Given the description of an element on the screen output the (x, y) to click on. 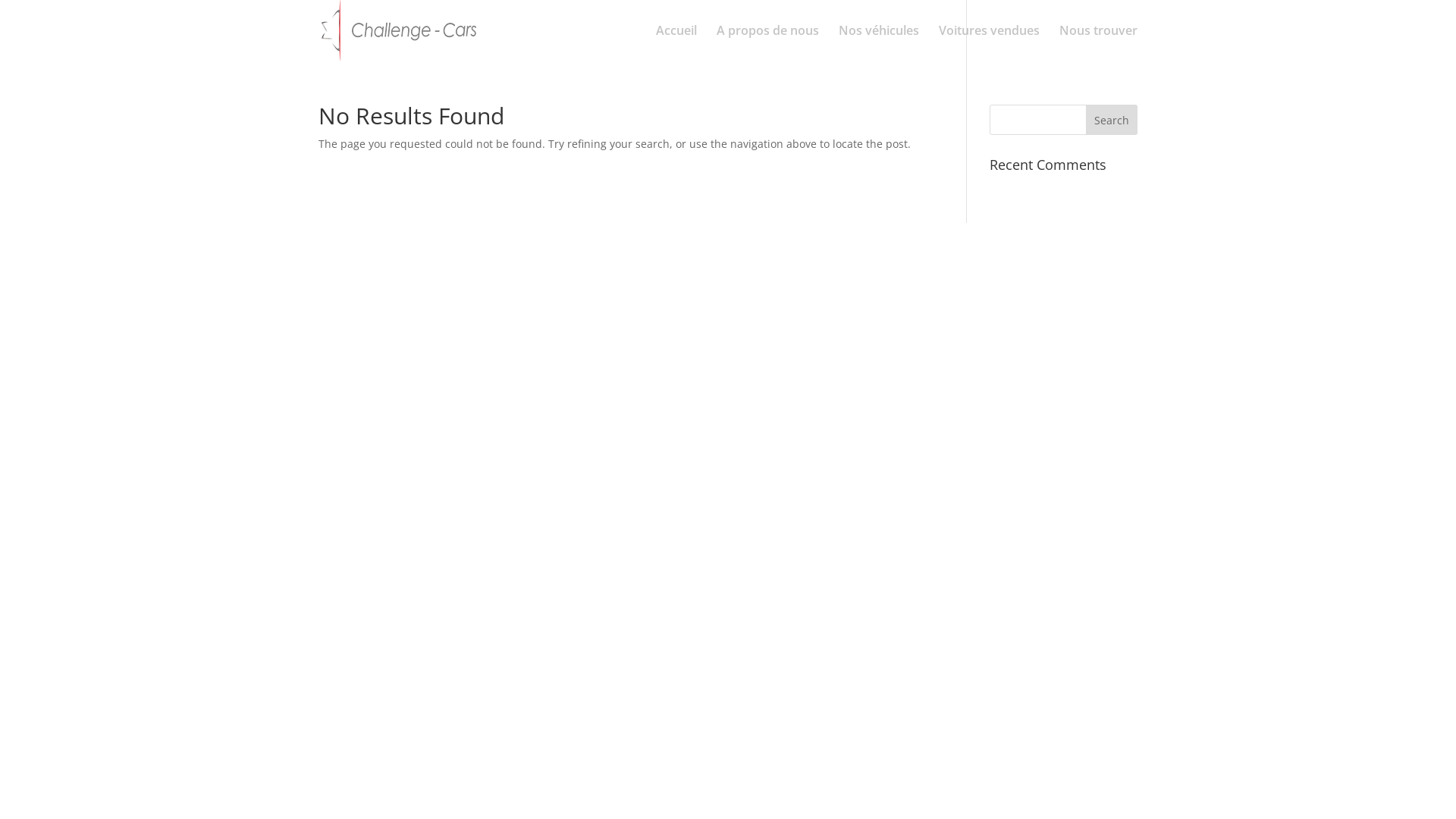
Search Element type: text (1111, 119)
Voitures vendues Element type: text (988, 42)
Nous trouver Element type: text (1098, 42)
Accueil Element type: text (675, 42)
A propos de nous Element type: text (767, 42)
